Given the description of an element on the screen output the (x, y) to click on. 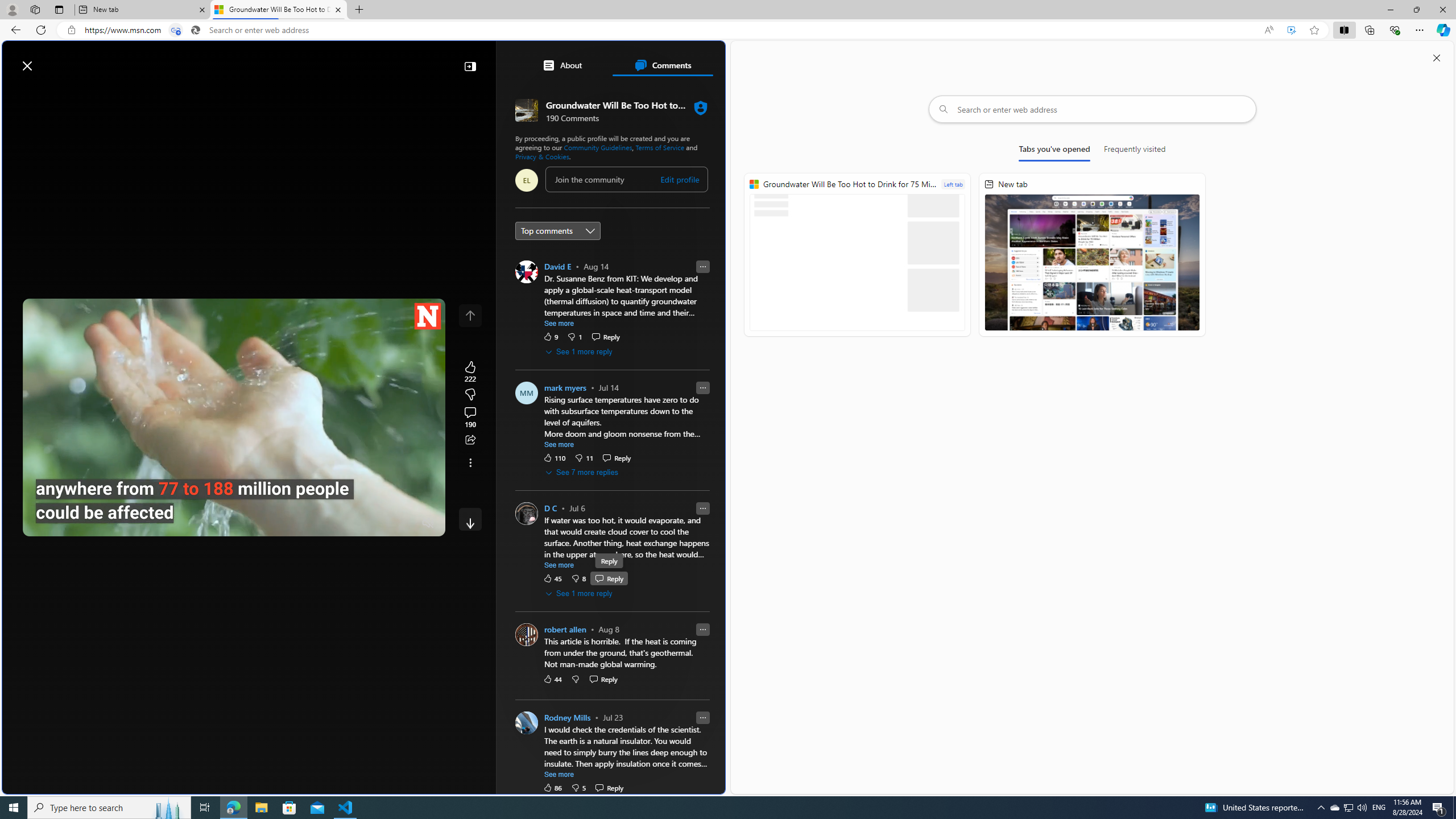
Skip to content (49, 59)
Unmute (427, 523)
45 Like (552, 578)
Fullscreen (405, 523)
Share this story (469, 440)
